Given the description of an element on the screen output the (x, y) to click on. 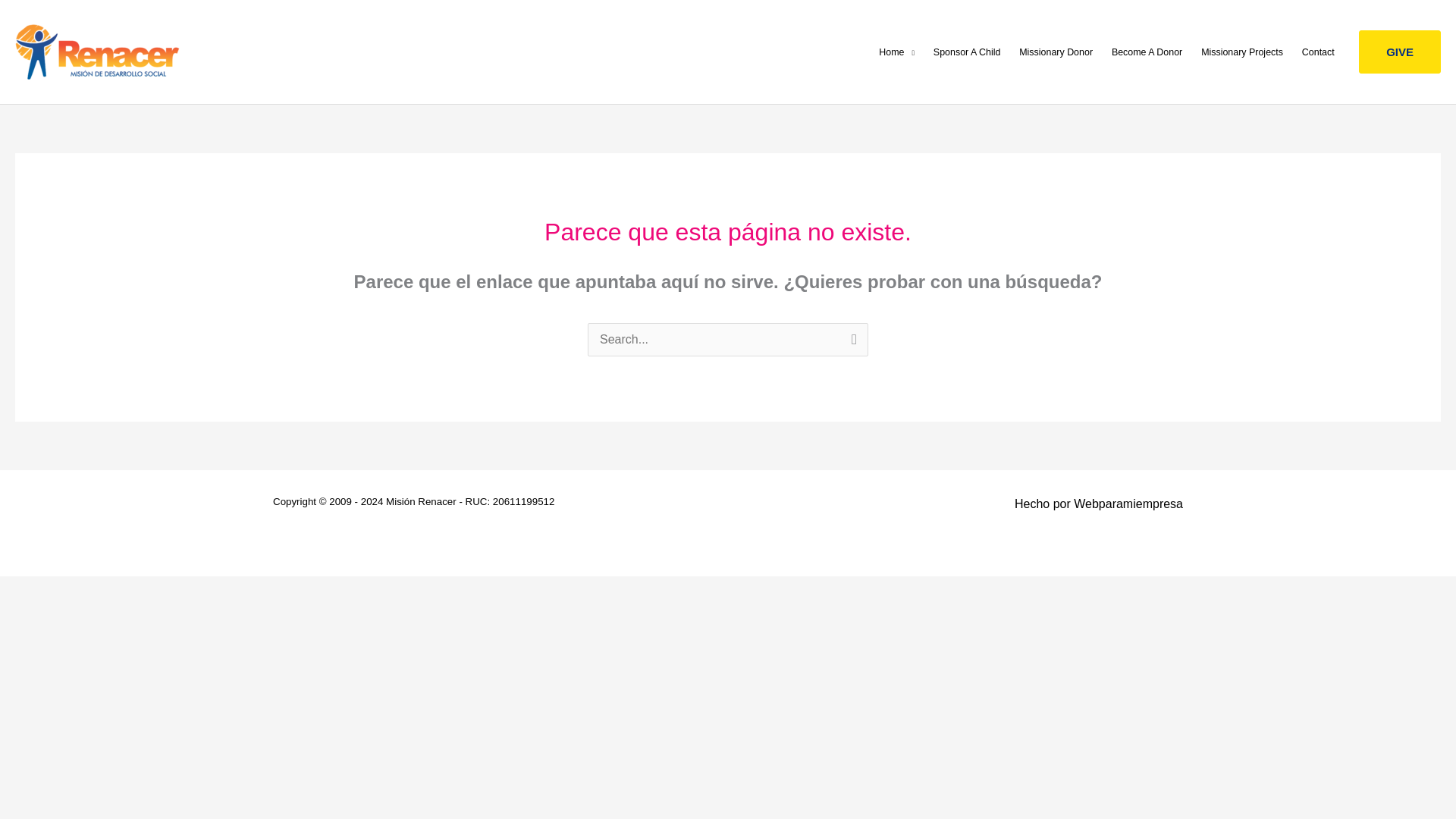
Missionary Donor (1056, 51)
GIVE (1399, 52)
Home (896, 51)
Become A Donor (1146, 51)
Sponsor A Child (966, 51)
Missionary Projects (1242, 51)
Contact (1317, 51)
